Given the description of an element on the screen output the (x, y) to click on. 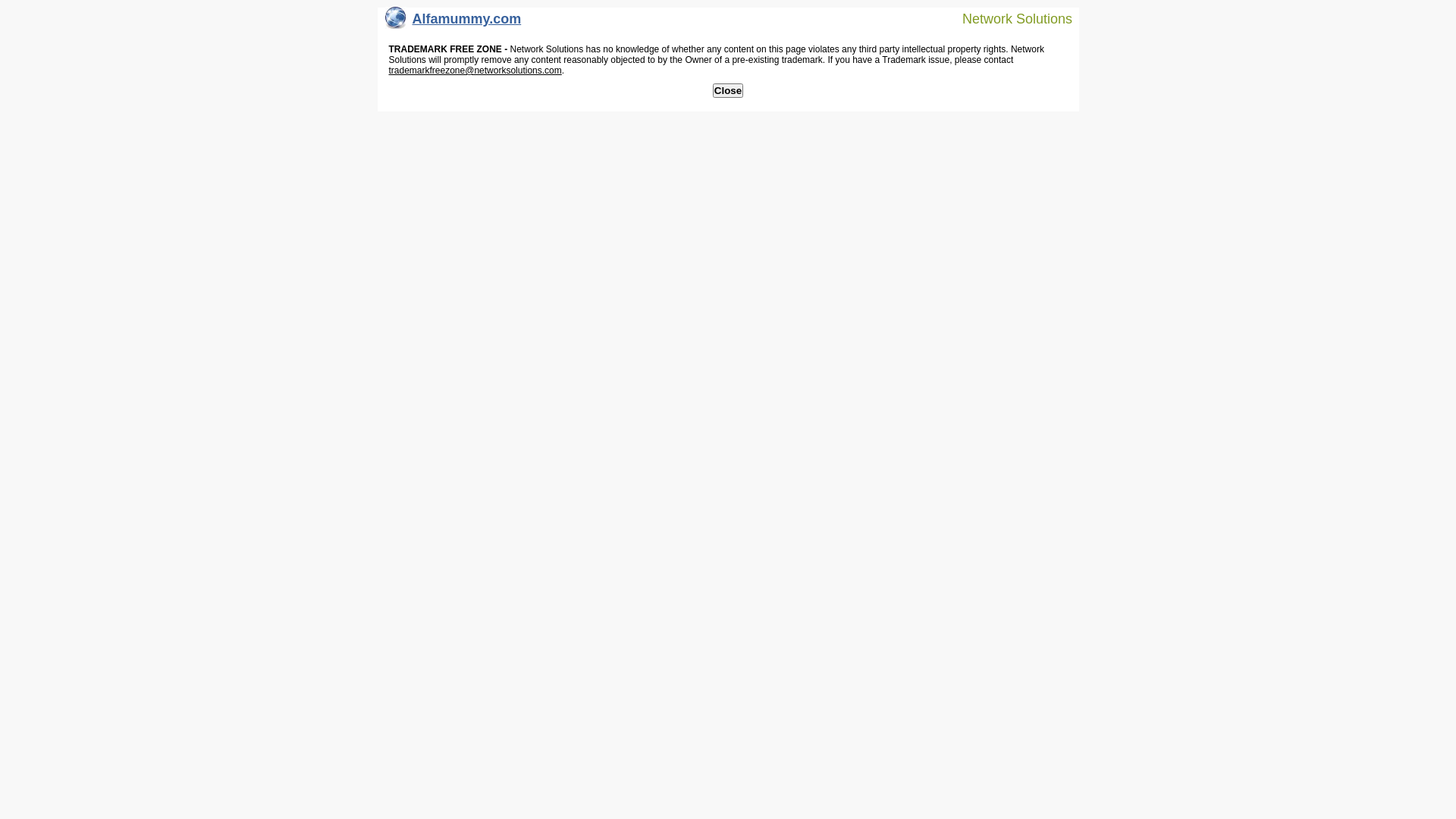
Network Solutions Element type: text (1007, 17)
trademarkfreezone@networksolutions.com Element type: text (474, 70)
Alfamummy.com Element type: text (453, 21)
Close Element type: text (727, 90)
